Given the description of an element on the screen output the (x, y) to click on. 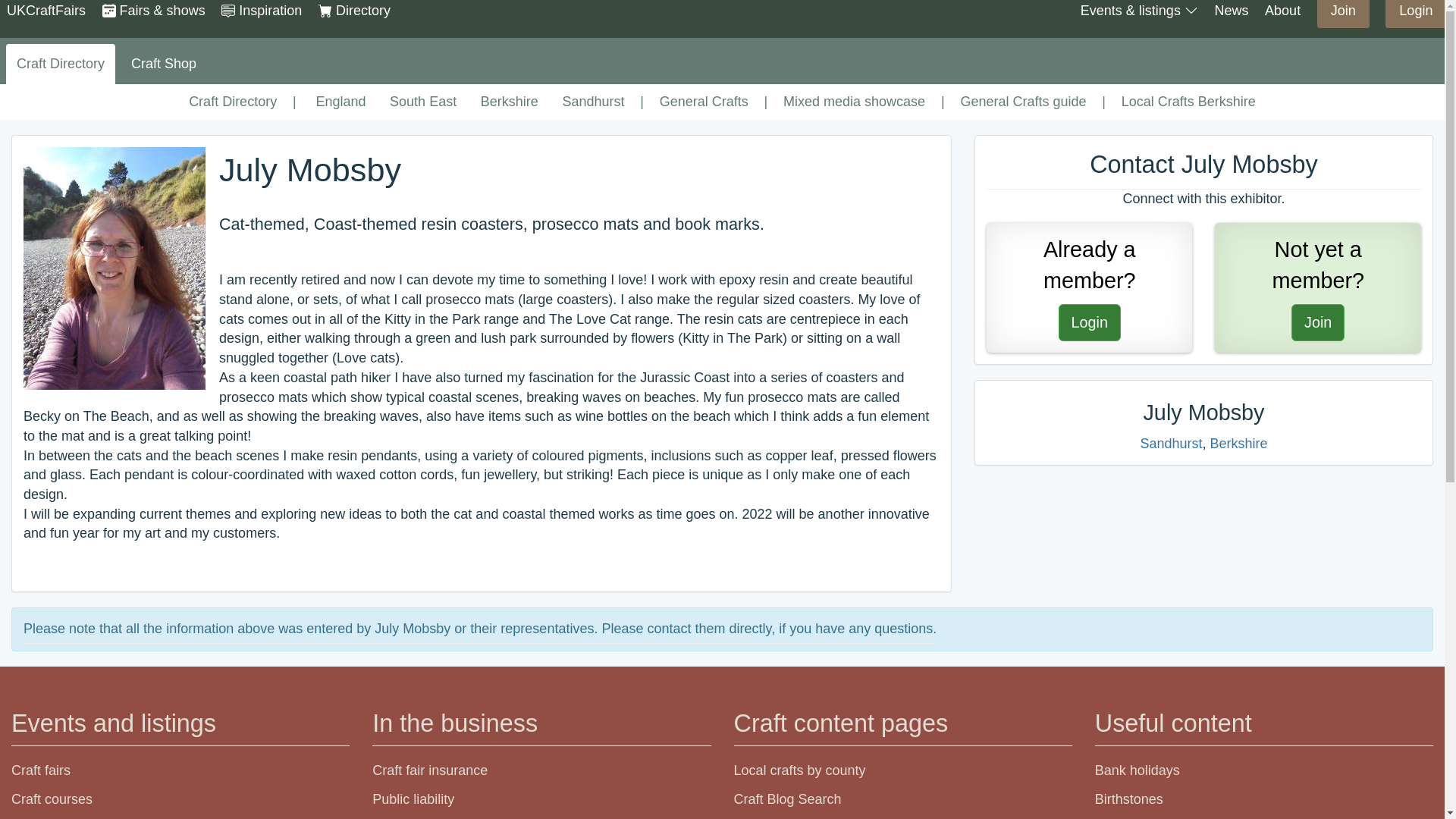
Join (1089, 287)
UKCraftFairs (1343, 13)
Fairs and shows (46, 10)
Craft Directory (153, 10)
Craft Shop (60, 64)
Become a member of UKCraftFairs (1317, 287)
Berkshire (163, 64)
South East (1343, 10)
Join (509, 101)
Search the directory and view the shop window (422, 101)
Sandhurst (1343, 10)
Berkshire (354, 10)
Inspiration (593, 101)
